Given the description of an element on the screen output the (x, y) to click on. 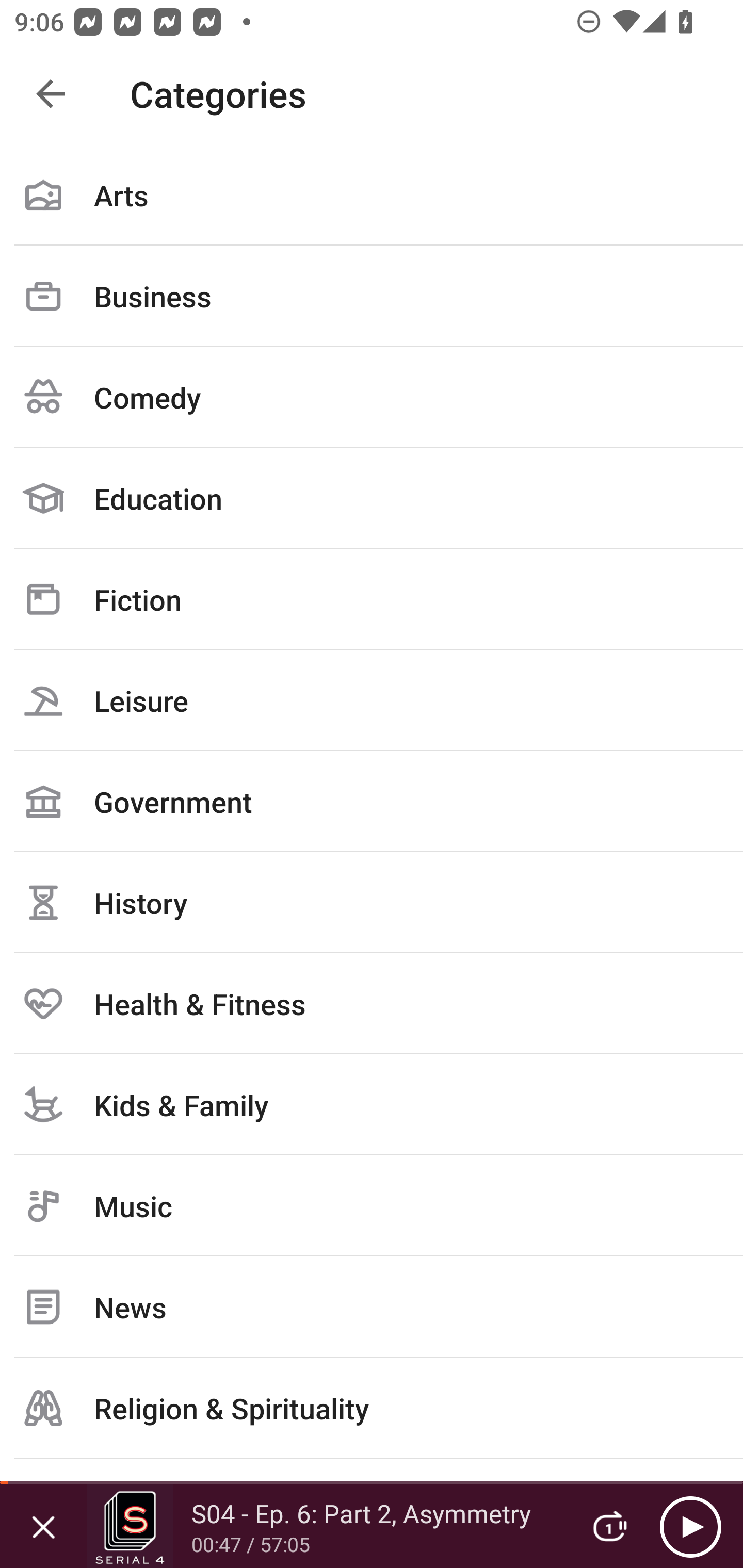
Navigate up (50, 93)
Arts (371, 195)
Business (371, 296)
Comedy (371, 397)
Education (371, 498)
Fiction (371, 598)
Leisure (371, 700)
Government (371, 801)
History (371, 902)
Health & Fitness (371, 1003)
Kids & Family (371, 1104)
Music (371, 1205)
News (371, 1306)
Religion & Spirituality (371, 1407)
S04 - Ep. 6: Part 2, Asymmetry 00:47 / 57:05 (326, 1525)
Play (690, 1526)
